Given the description of an element on the screen output the (x, y) to click on. 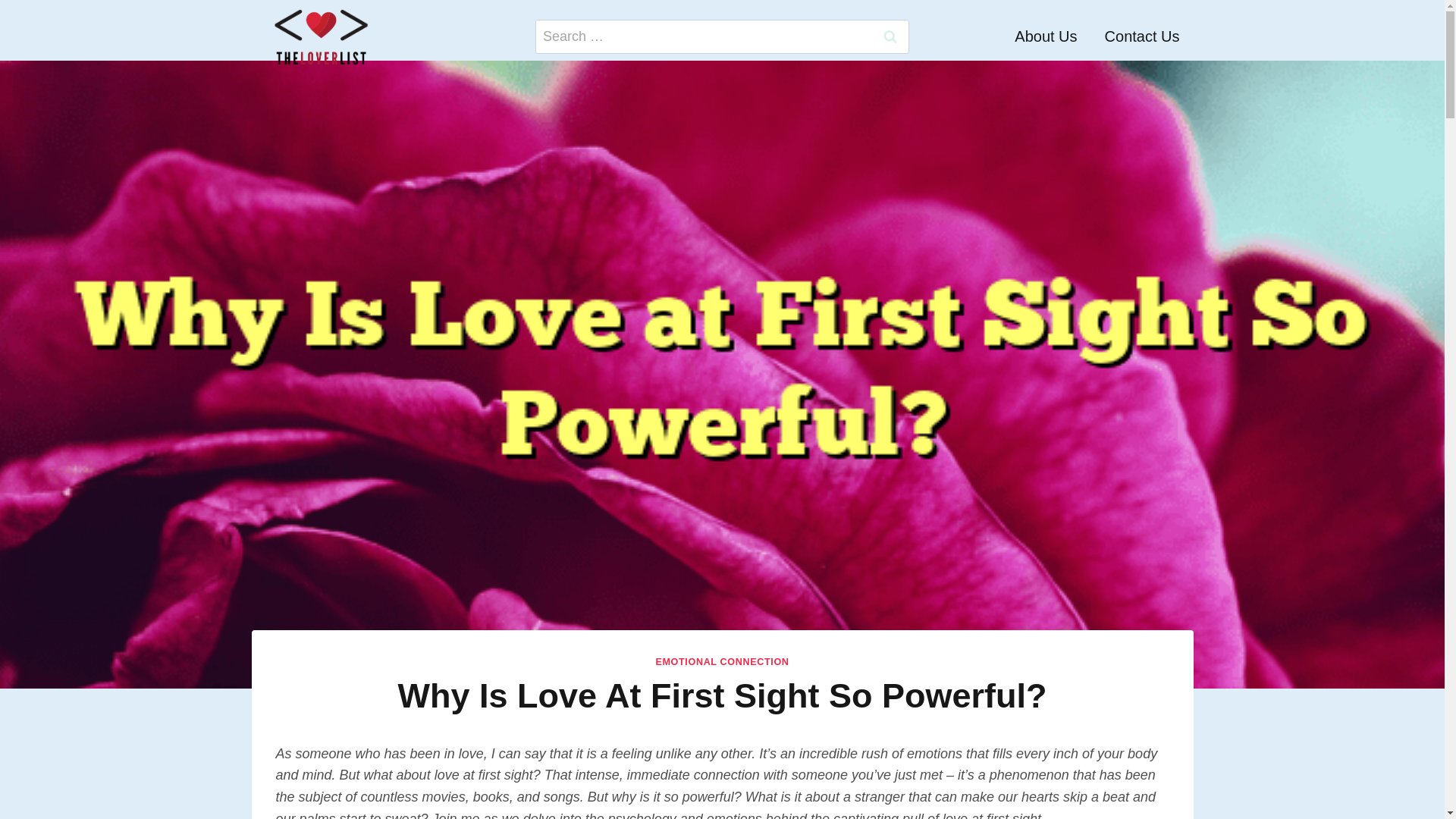
EMOTIONAL CONNECTION (722, 661)
Search (889, 36)
Search (889, 36)
Search (889, 36)
Contact Us (1141, 36)
About Us (1045, 36)
